Given the description of an element on the screen output the (x, y) to click on. 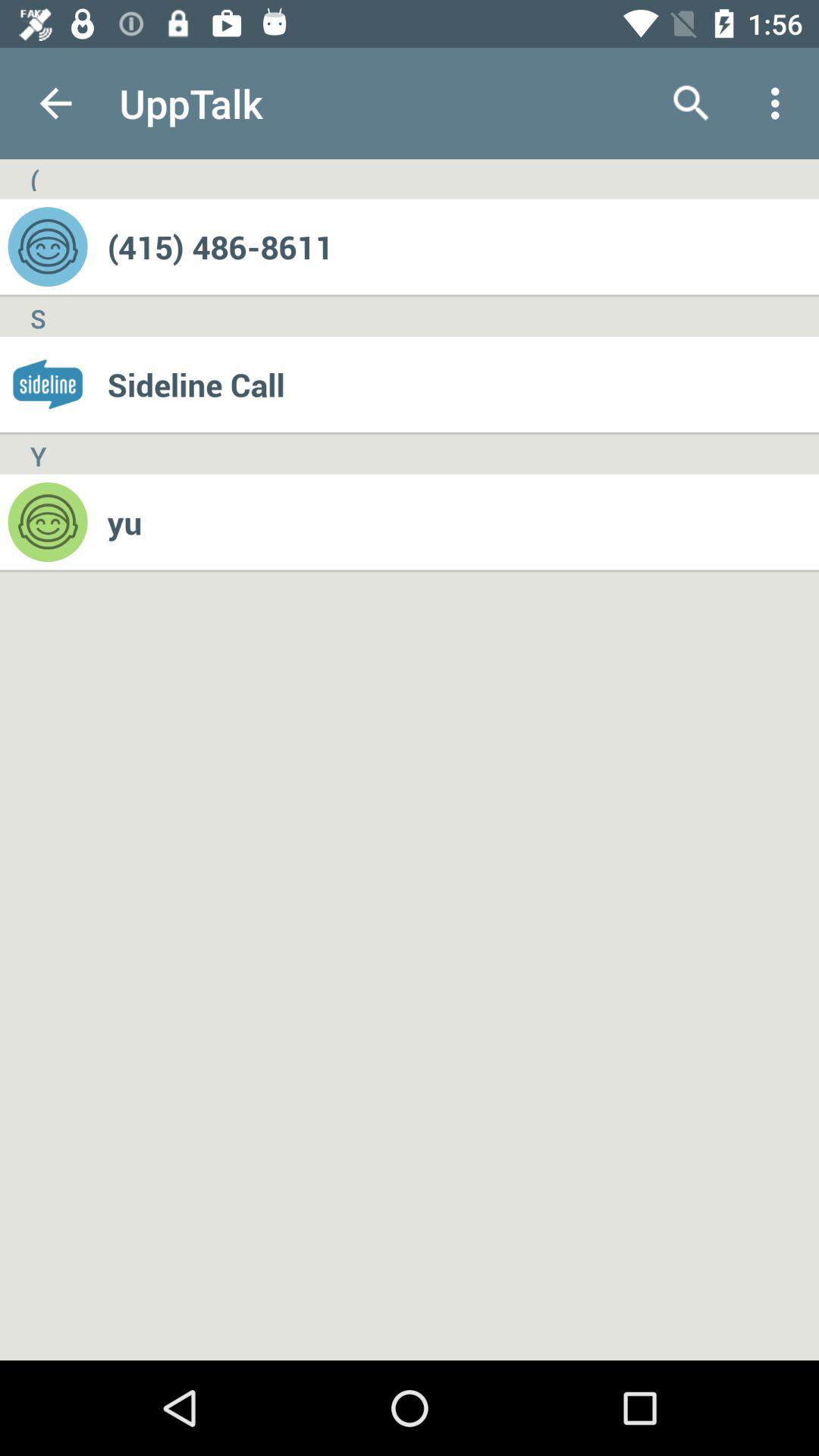
press the icon below the (415) 486-8611 (463, 384)
